Given the description of an element on the screen output the (x, y) to click on. 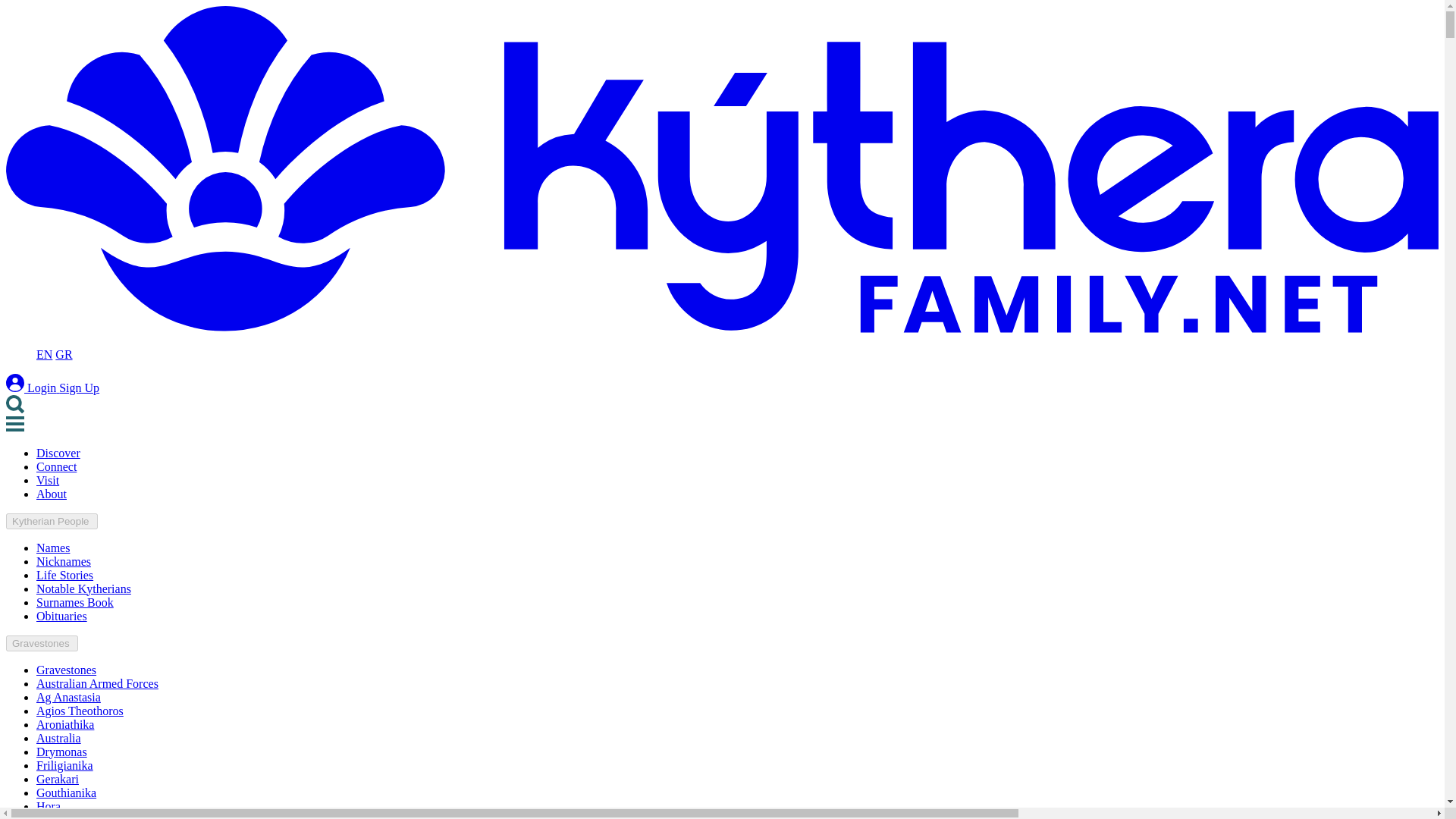
Nicknames (63, 561)
Nicknames (63, 561)
Aroniathika (65, 724)
Notable Kytherians (83, 588)
Names (52, 547)
Names (52, 547)
About (51, 493)
Australia (58, 738)
Obituaries (61, 615)
Australia (58, 738)
